Given the description of an element on the screen output the (x, y) to click on. 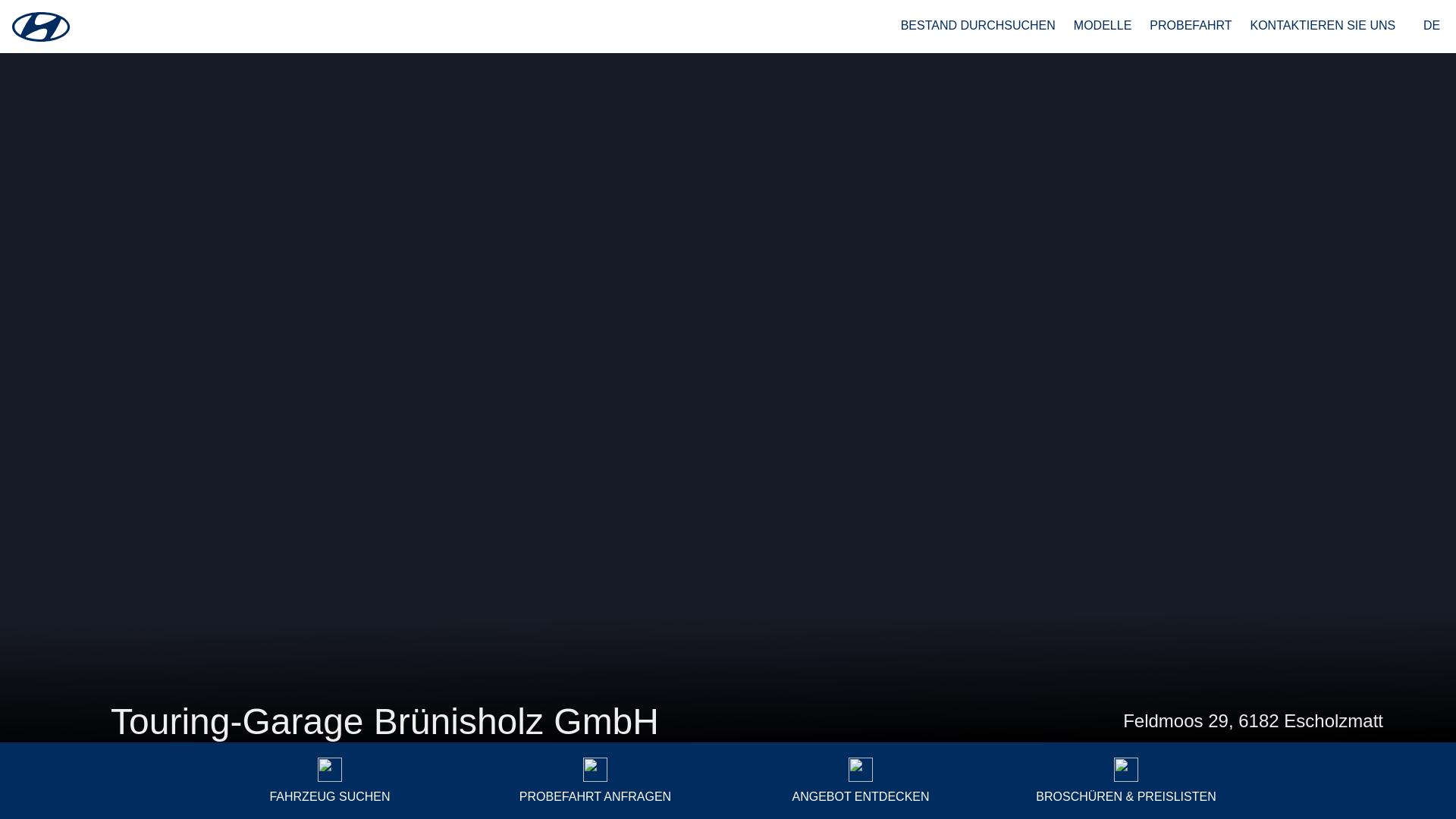
FAHRZEUG SUCHEN Element type: text (329, 780)
PROBEFAHRT Element type: text (1190, 25)
KONTAKTIEREN SIE UNS Element type: text (1322, 25)
BESTAND DURCHSUCHEN Element type: text (977, 25)
ANGEBOT ENTDECKEN Element type: text (860, 780)
MODELLE Element type: text (1102, 25)
PROBEFAHRT ANFRAGEN Element type: text (595, 780)
